Given the description of an element on the screen output the (x, y) to click on. 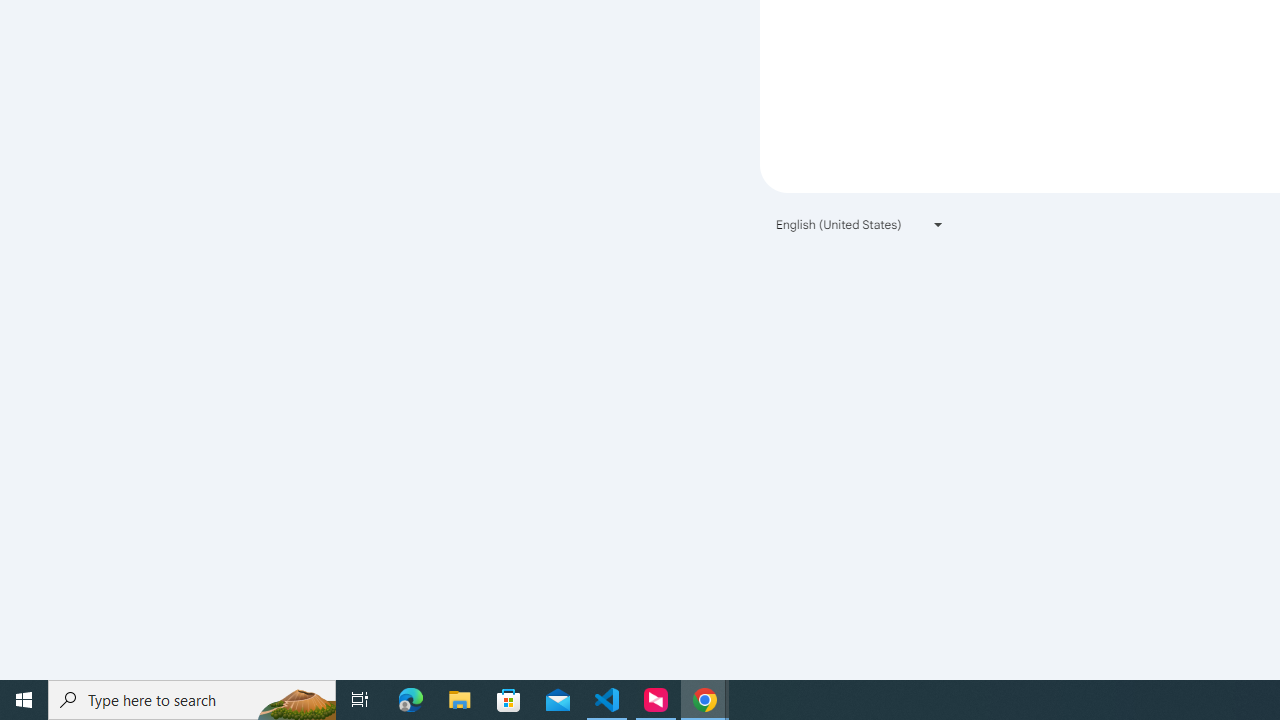
English (United States) (860, 224)
